Given the description of an element on the screen output the (x, y) to click on. 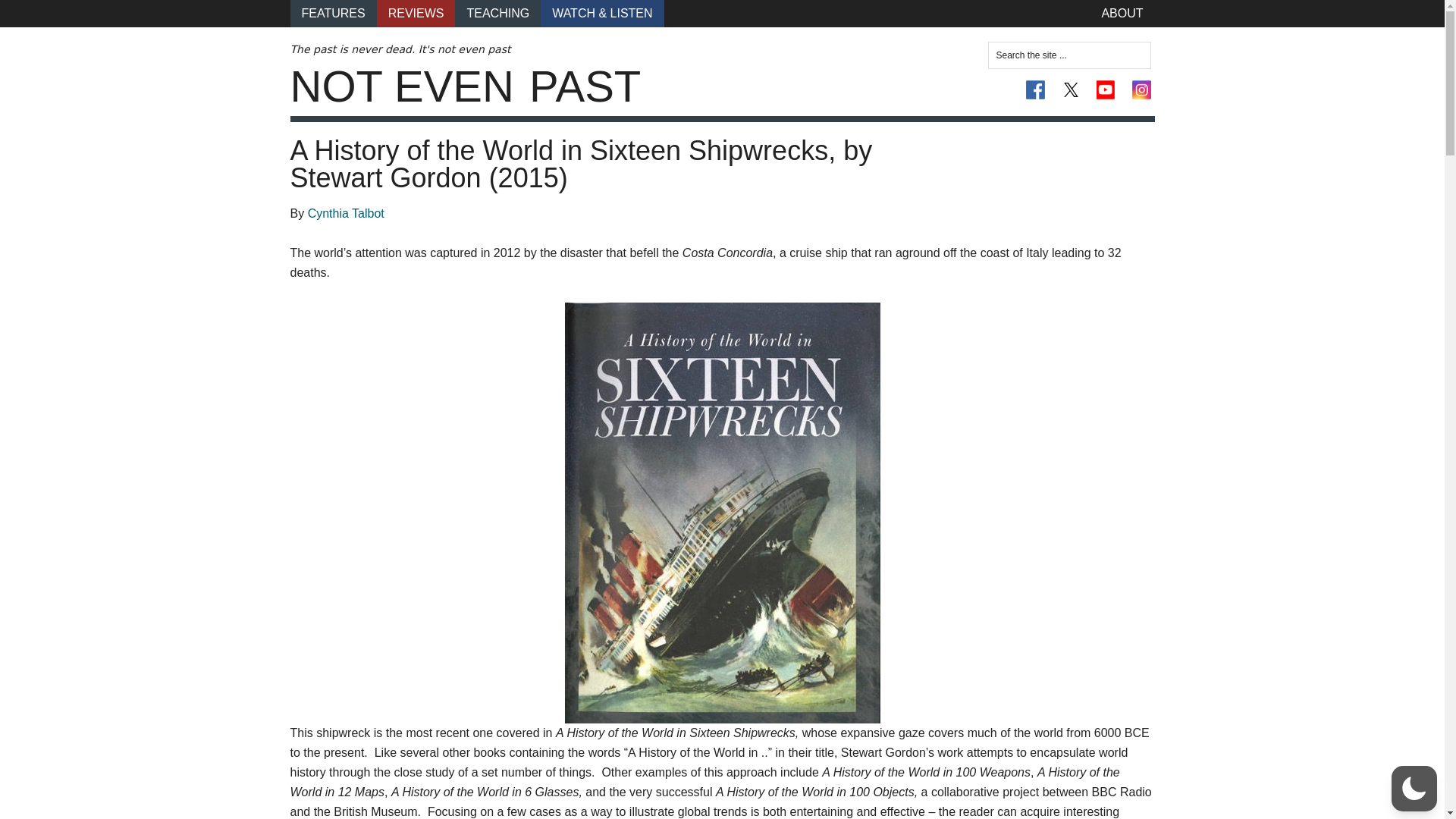
ABOUT (1121, 13)
Cynthia Talbot (345, 213)
Instagram (1140, 89)
NOT EVEN PAST (464, 85)
REVIEWS (416, 13)
On Twitter (1070, 89)
YouTube Channel (1105, 89)
On Facebook (1035, 89)
FEATURES (332, 13)
TEACHING (497, 13)
